Given the description of an element on the screen output the (x, y) to click on. 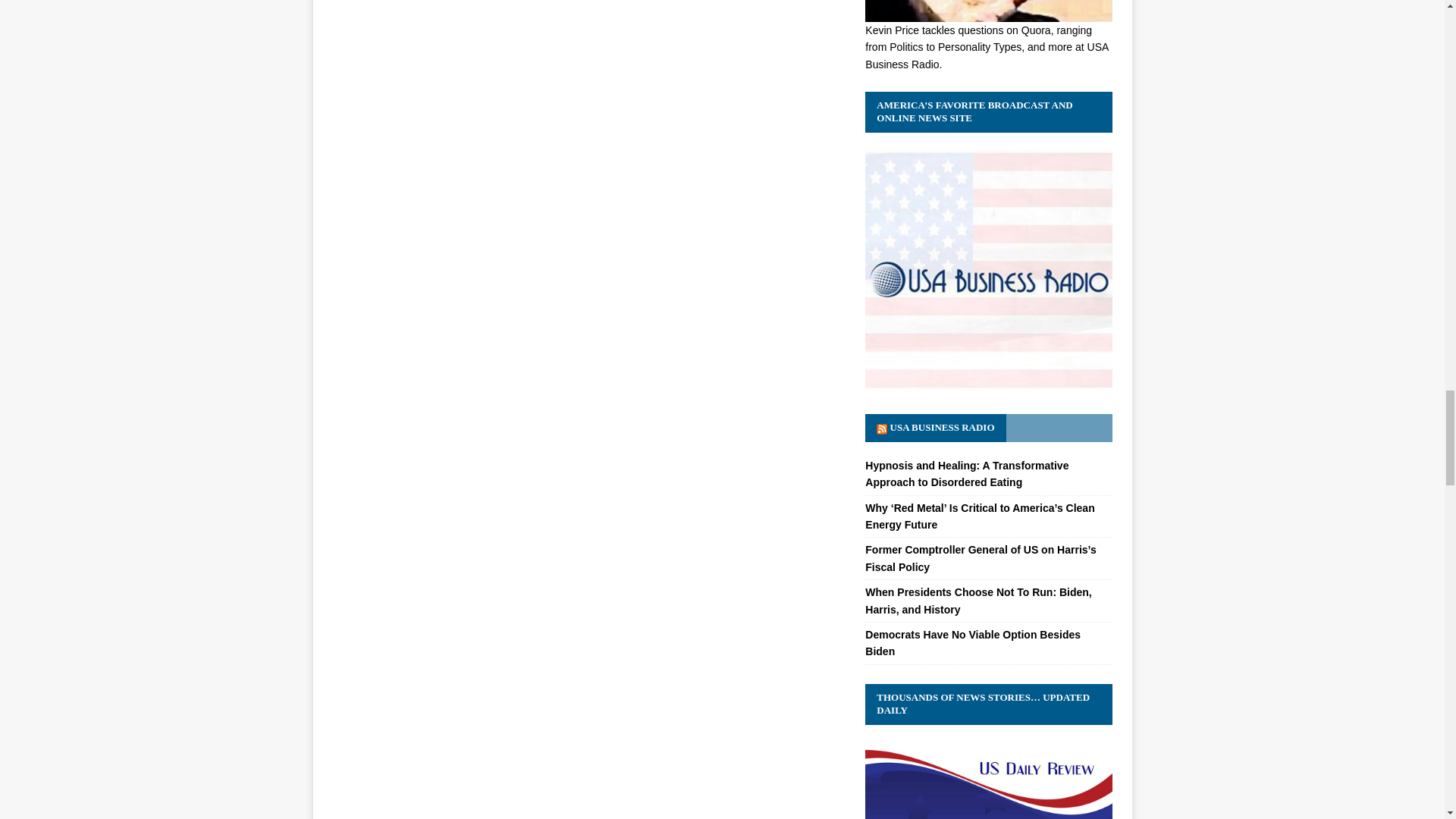
Adventures in Quora with Kevin Price (988, 13)
